Given the description of an element on the screen output the (x, y) to click on. 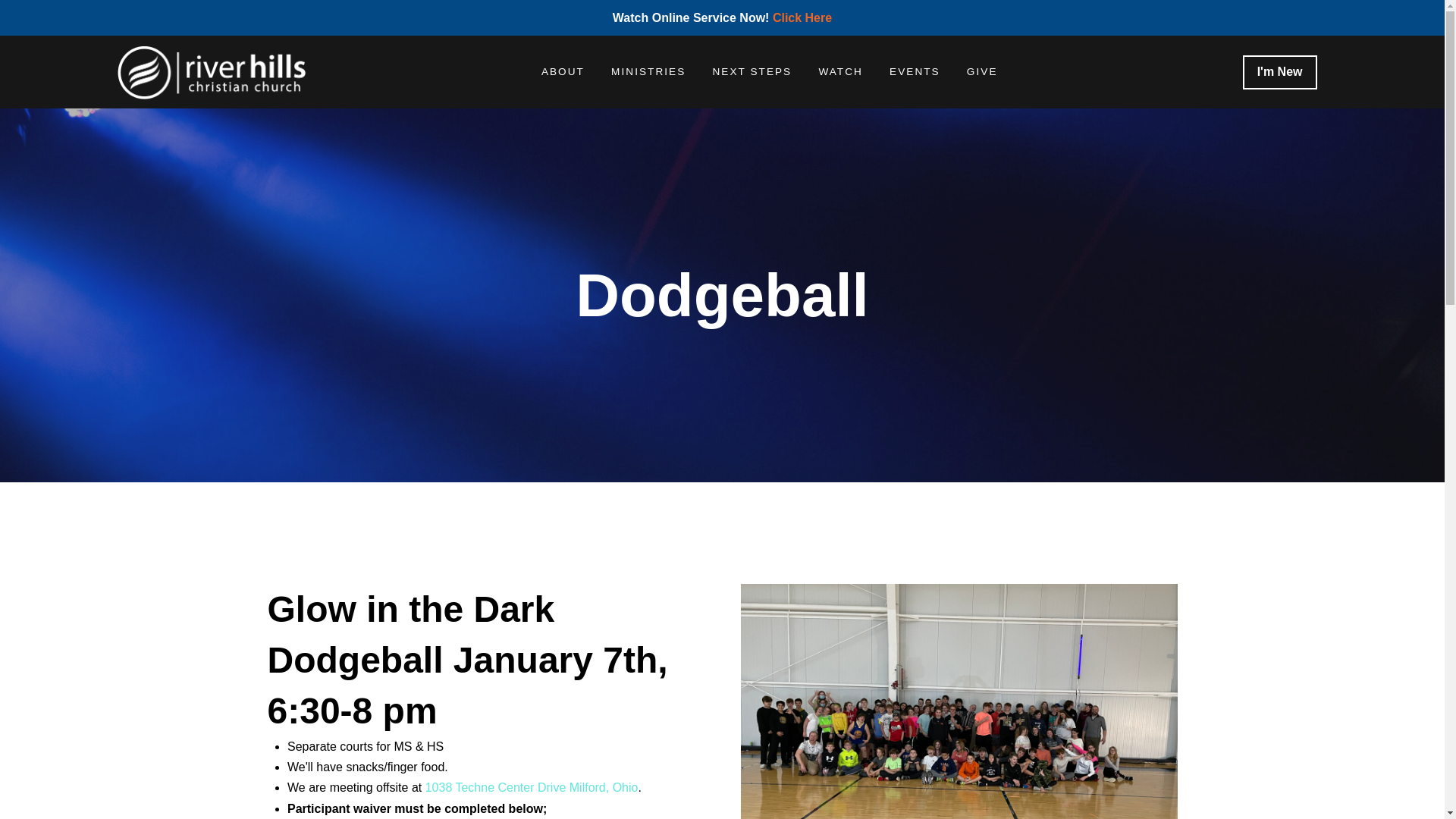
ABOUT (561, 72)
MINISTRIES (647, 72)
EVENTS (913, 72)
NEXT STEPS (751, 72)
WATCH (840, 72)
1038 Techne Center Drive Milford, Ohio (532, 787)
I'm New (1280, 72)
Click Here (802, 17)
